Given the description of an element on the screen output the (x, y) to click on. 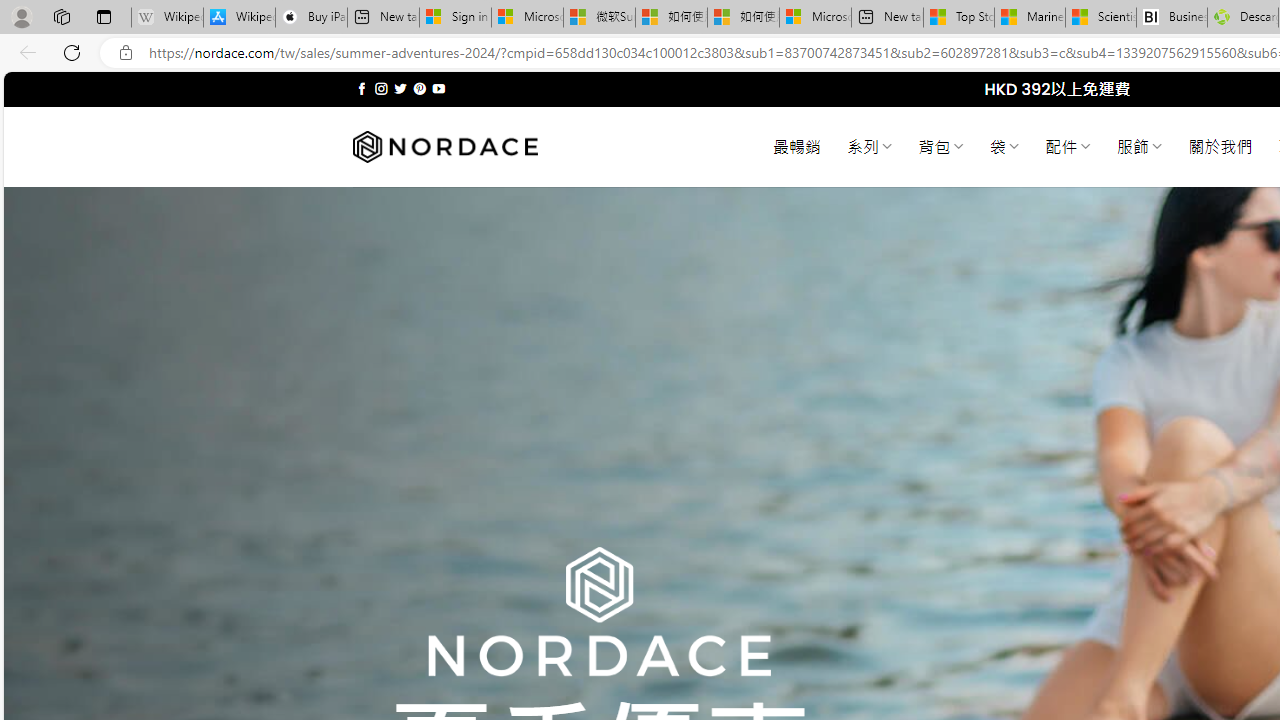
Marine life - MSN (1029, 17)
Follow on YouTube (438, 88)
Sign in to your Microsoft account (455, 17)
Follow on Twitter (400, 88)
Top Stories - MSN (959, 17)
